Given the description of an element on the screen output the (x, y) to click on. 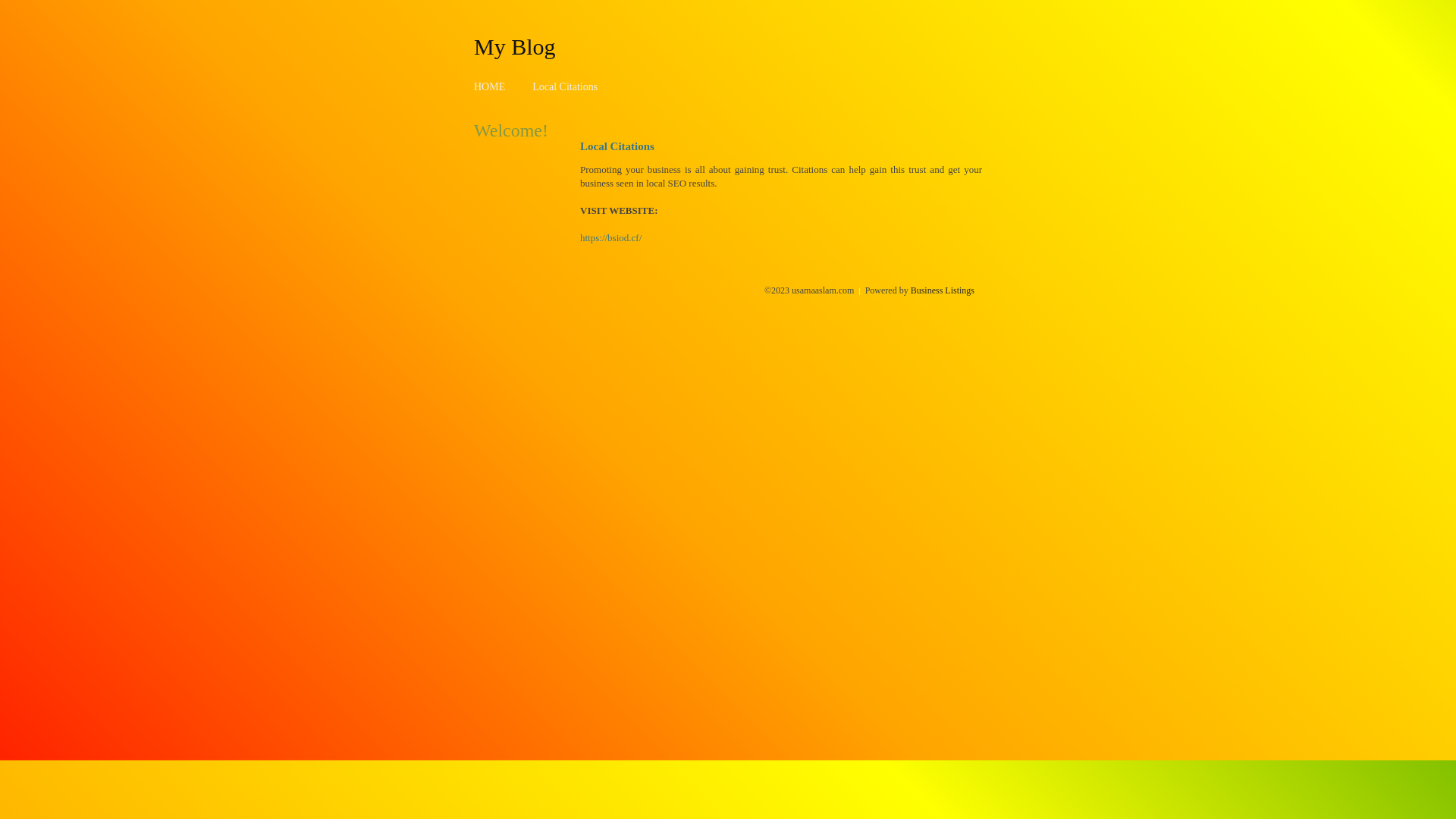
HOME Element type: text (489, 86)
Local Citations Element type: text (564, 86)
My Blog Element type: text (514, 46)
Business Listings Element type: text (942, 290)
https://bsiod.cf/ Element type: text (610, 237)
